Given the description of an element on the screen output the (x, y) to click on. 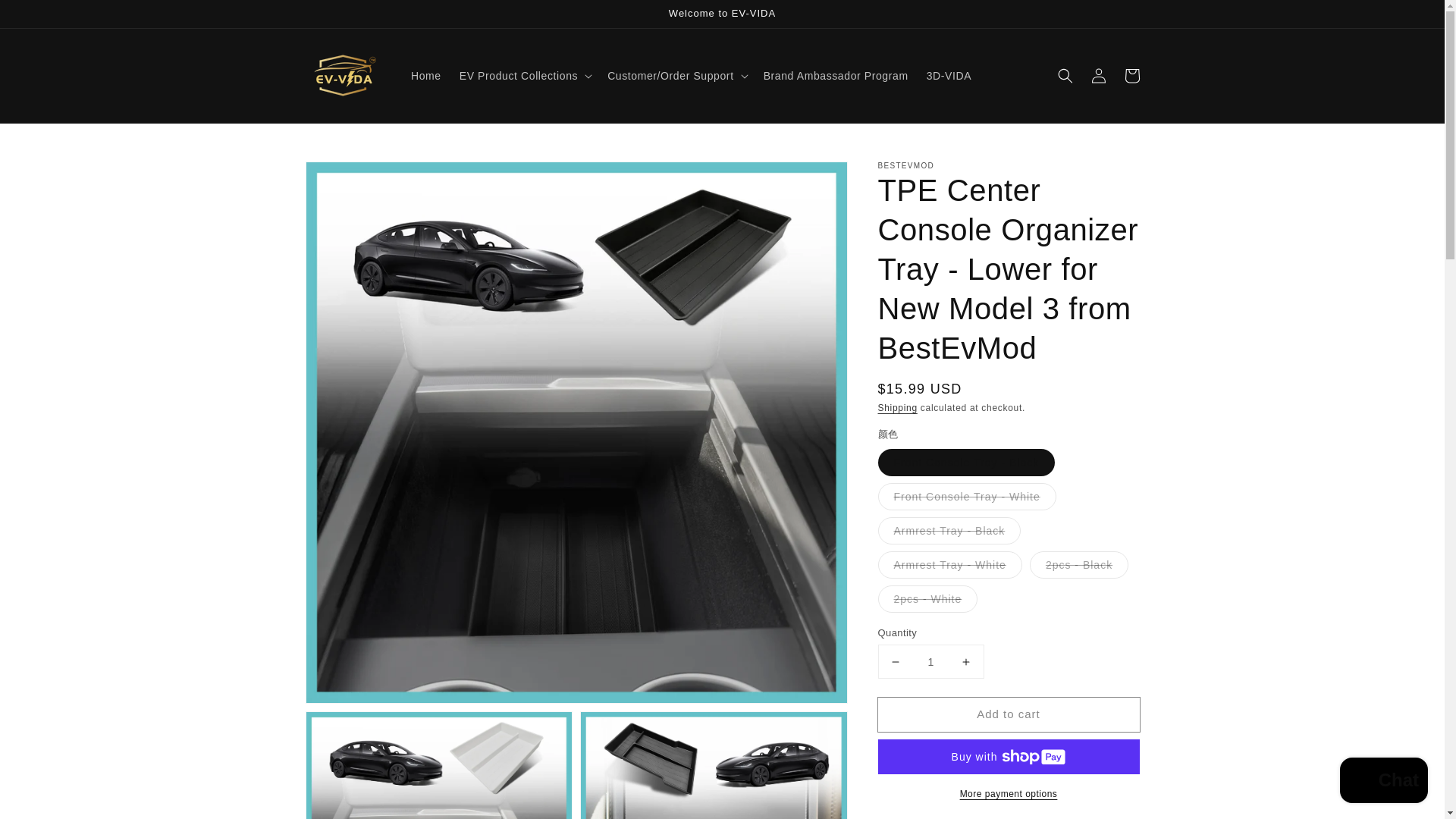
Skip to content (45, 16)
1 (930, 661)
Shopify online store chat (1383, 781)
